Given the description of an element on the screen output the (x, y) to click on. 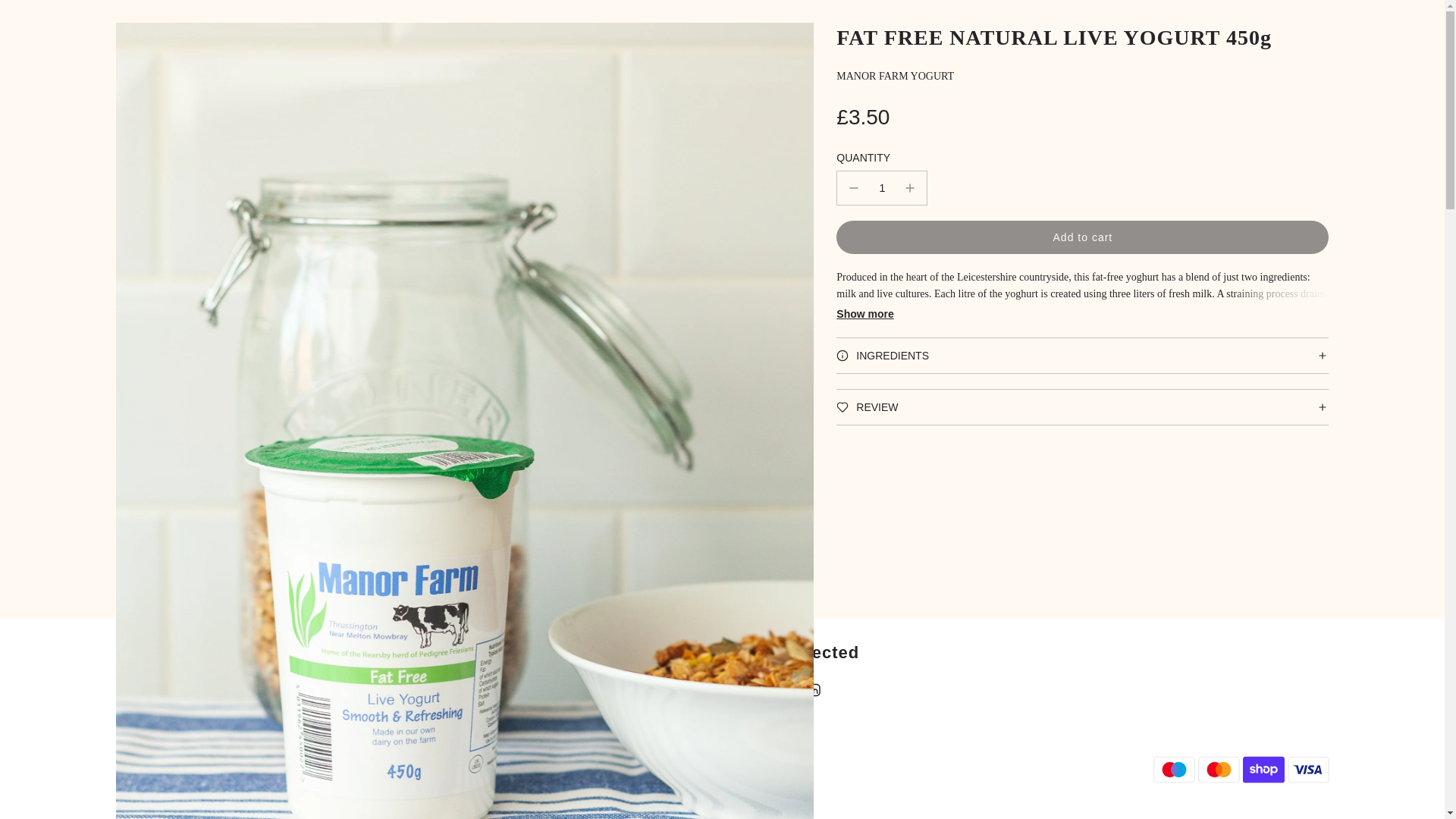
Manor Farm Yogurt (894, 75)
MANOR FARM YOGURT (1081, 236)
